Given the description of an element on the screen output the (x, y) to click on. 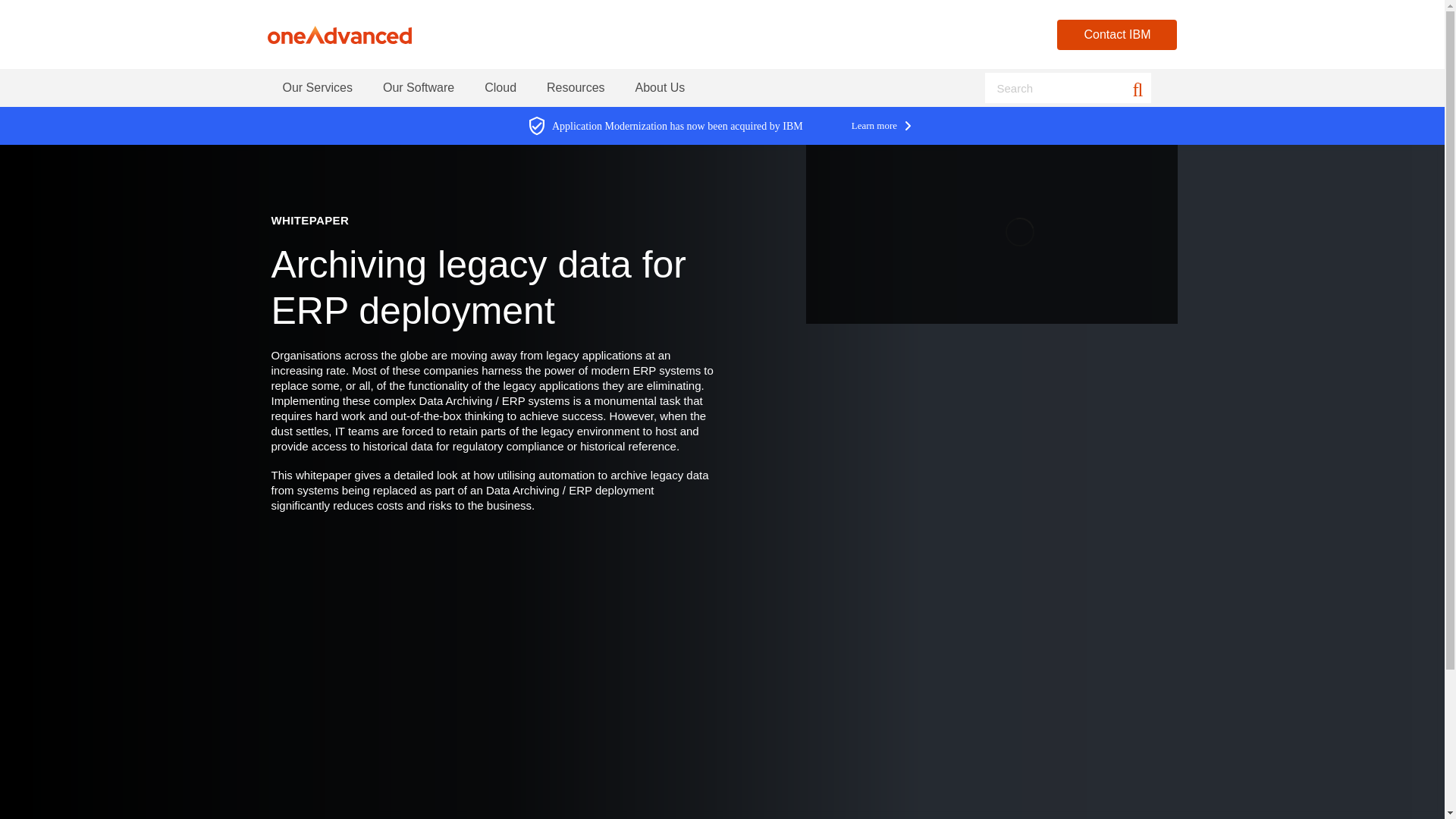
Contact IBM (1116, 34)
Modern Systems (338, 34)
Cloud (499, 87)
Contact IBM (1116, 34)
Our Software (418, 87)
Our Services (316, 87)
Modern Systems (338, 34)
